Given the description of an element on the screen output the (x, y) to click on. 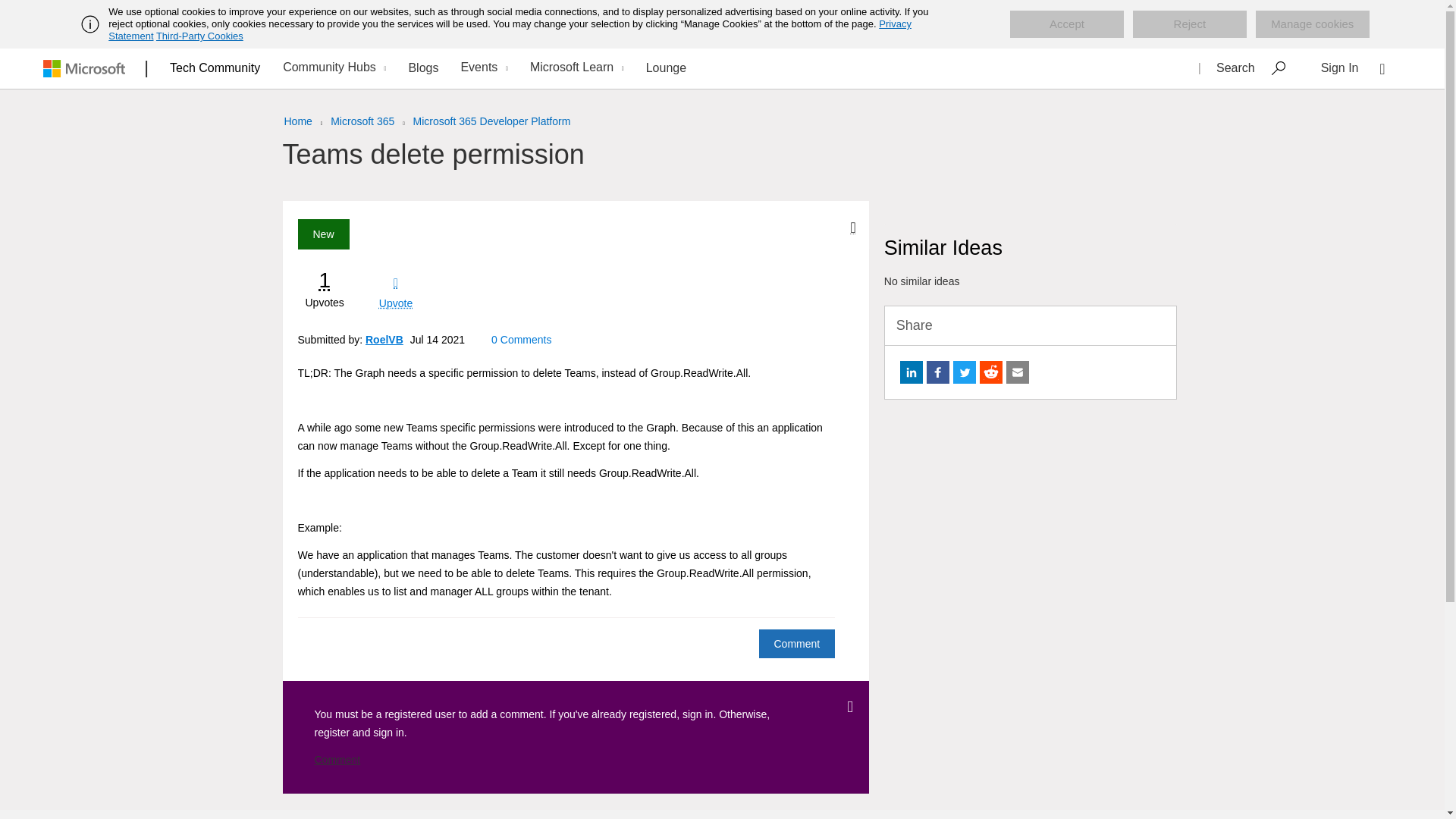
Community Hubs (332, 67)
Tech Community (215, 67)
Third-Party Cookies (199, 35)
Privacy Statement (509, 29)
Accept (1067, 23)
Manage cookies (1312, 23)
Reject (1189, 23)
